Given the description of an element on the screen output the (x, y) to click on. 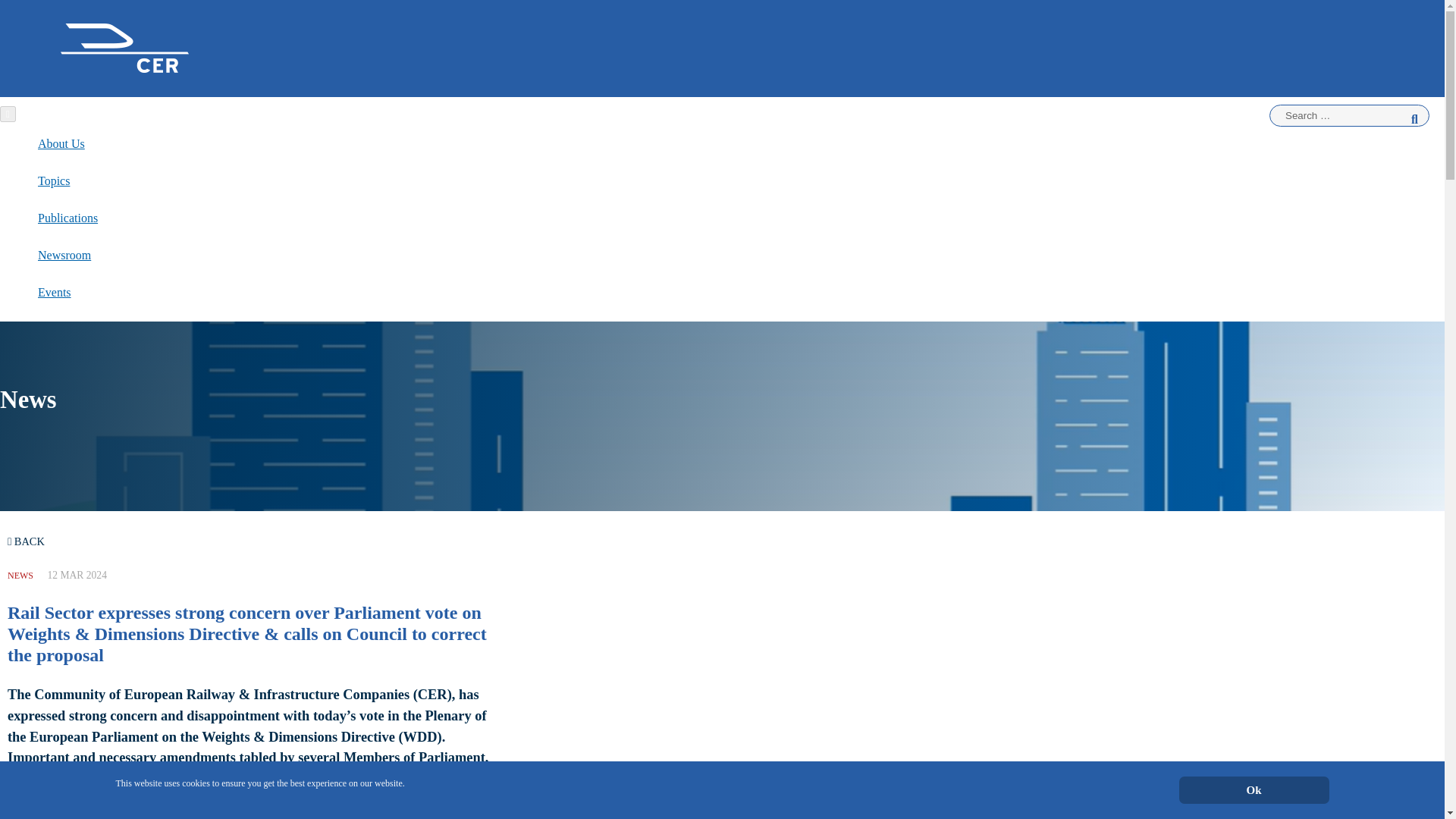
Topics (53, 180)
Publications (67, 218)
Newsroom (64, 254)
MEMBERS AREA (722, 160)
Events (54, 291)
BACK (26, 541)
About Us (61, 143)
